Given the description of an element on the screen output the (x, y) to click on. 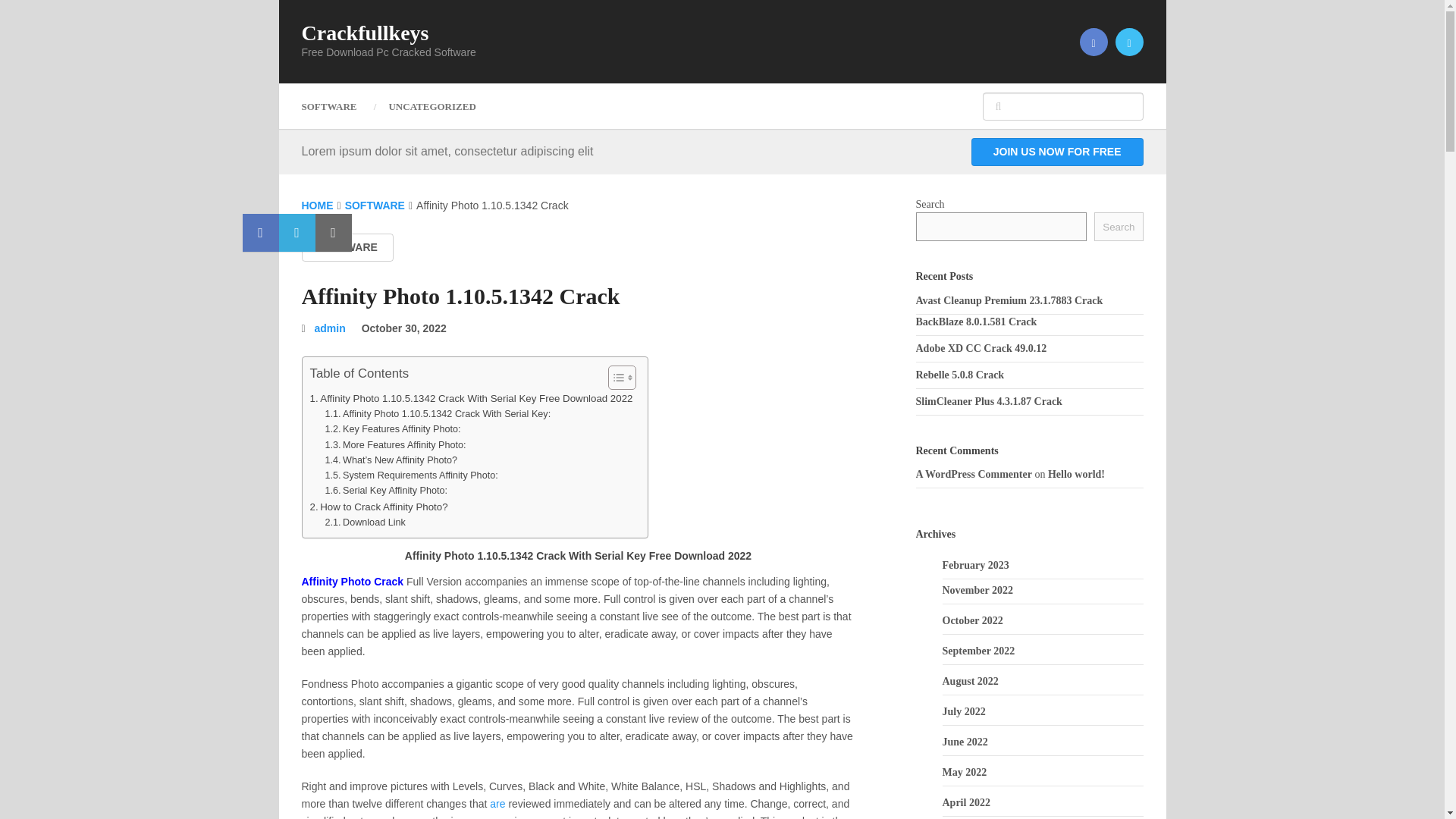
JOIN US NOW FOR FREE (1056, 152)
More Features Affinity Photo: (394, 444)
are (497, 803)
More Features Affinity Photo: (394, 444)
Join Us Now For Free (1056, 152)
Posts by admin (330, 328)
HOME (317, 205)
admin (330, 328)
Serial Key Affinity Photo: (385, 490)
SOFTWARE (336, 105)
